Given the description of an element on the screen output the (x, y) to click on. 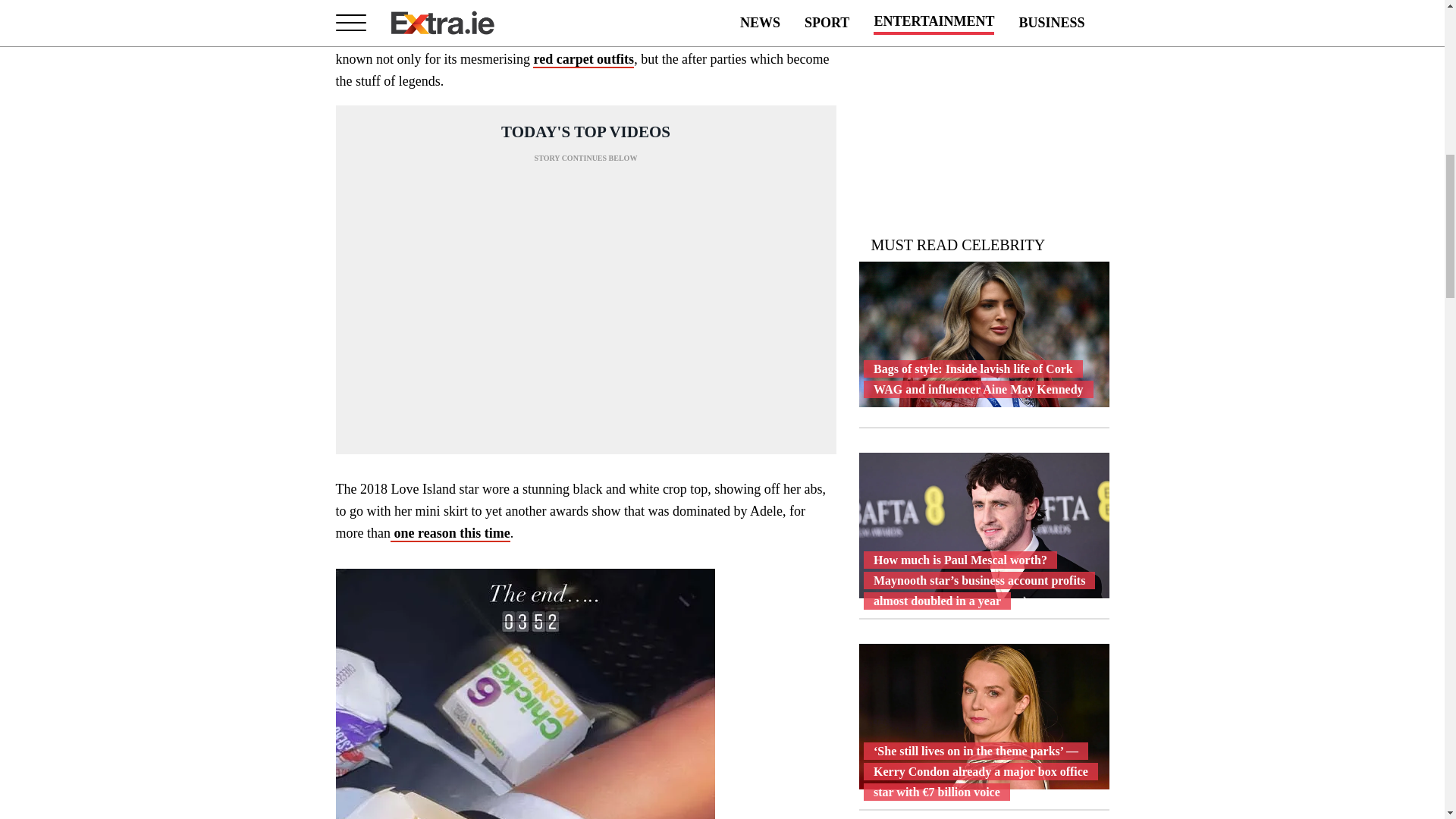
one reason this time (450, 533)
red carpet outfits (582, 59)
